Given the description of an element on the screen output the (x, y) to click on. 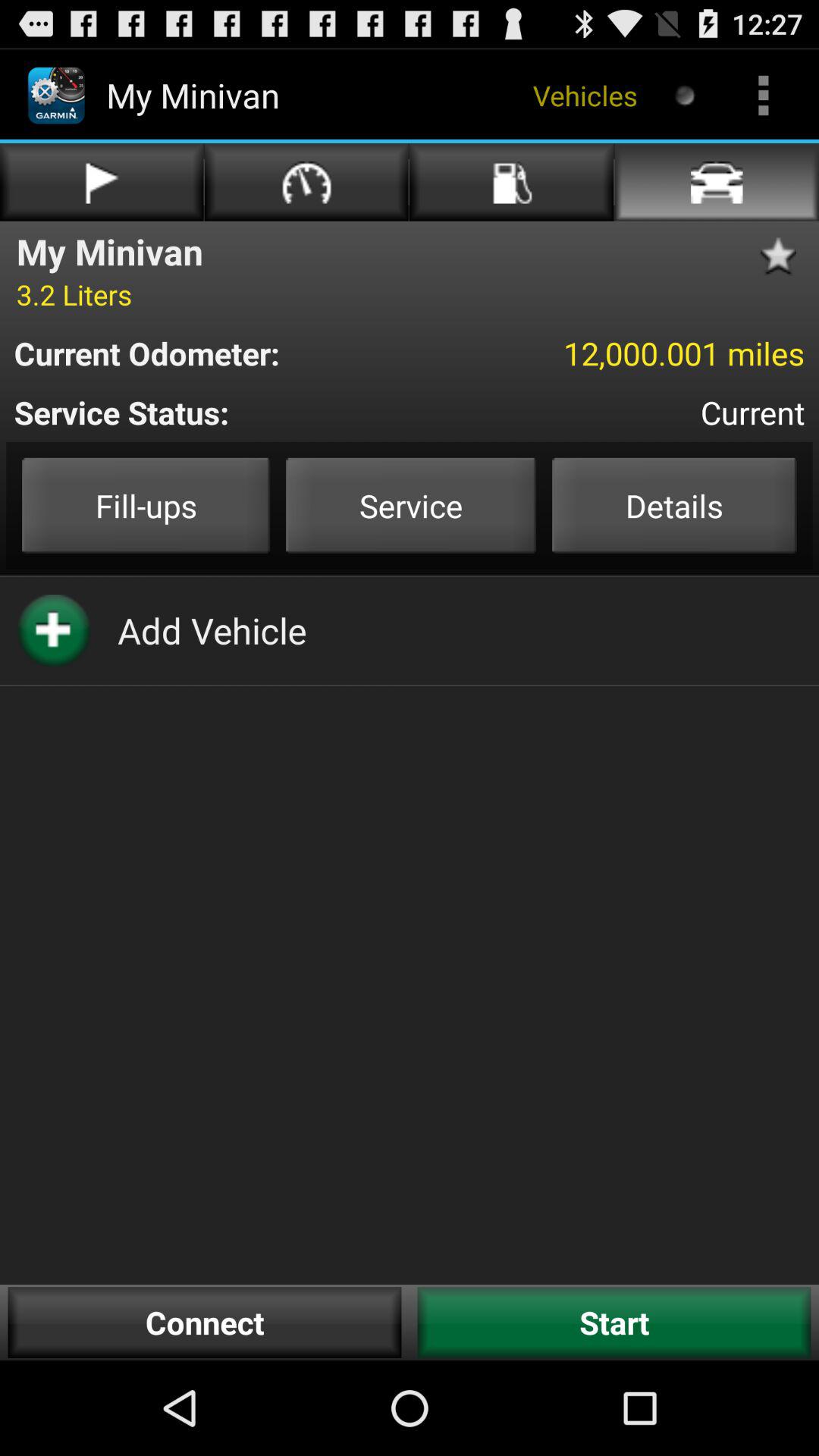
swipe until the details item (674, 505)
